Given the description of an element on the screen output the (x, y) to click on. 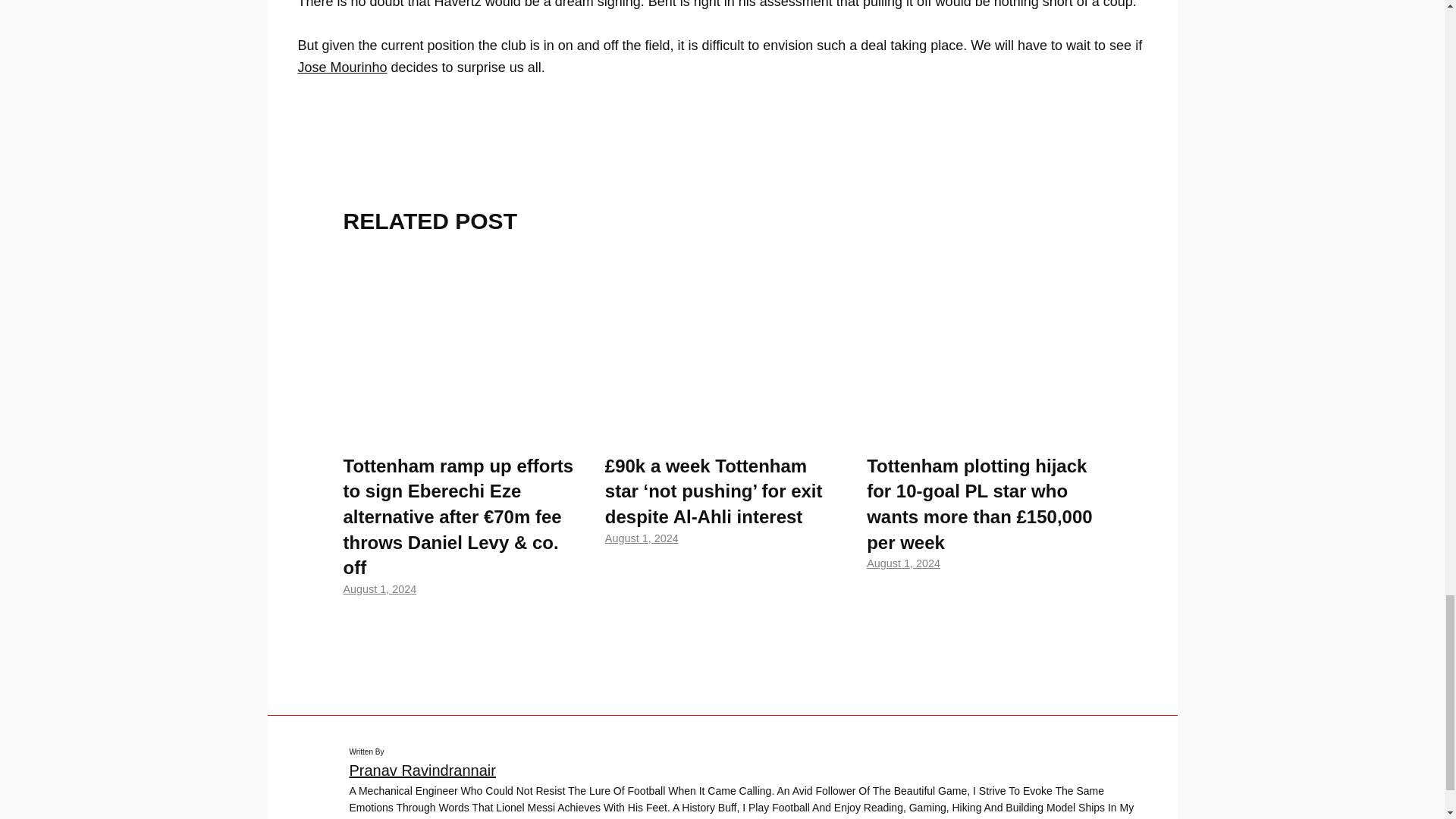
4:02 pm (641, 538)
3:00 pm (903, 563)
8:30 pm (379, 589)
